Given the description of an element on the screen output the (x, y) to click on. 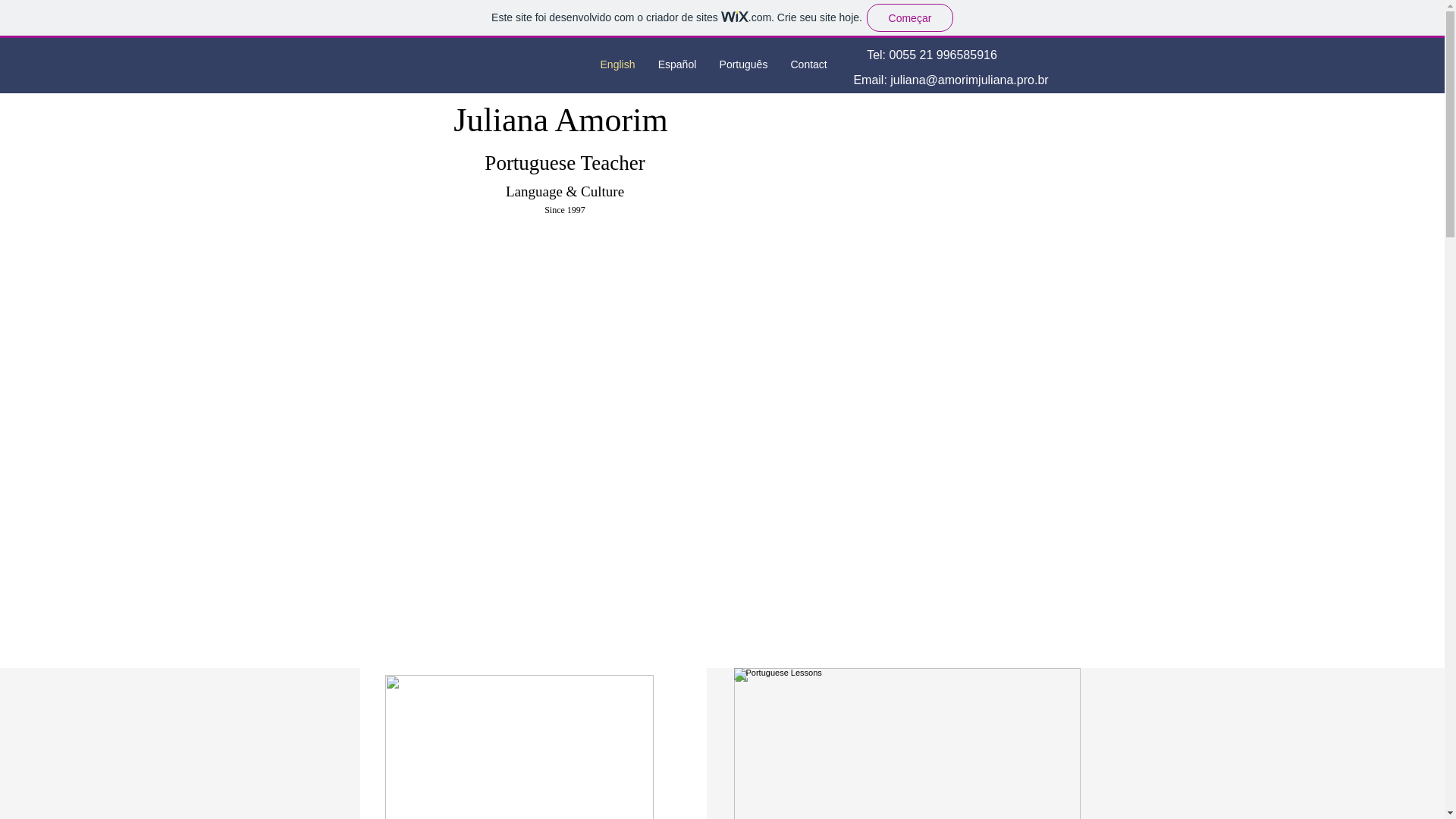
Tel: 0055 21 996585916 (932, 55)
English (617, 64)
Contact (808, 64)
